Given the description of an element on the screen output the (x, y) to click on. 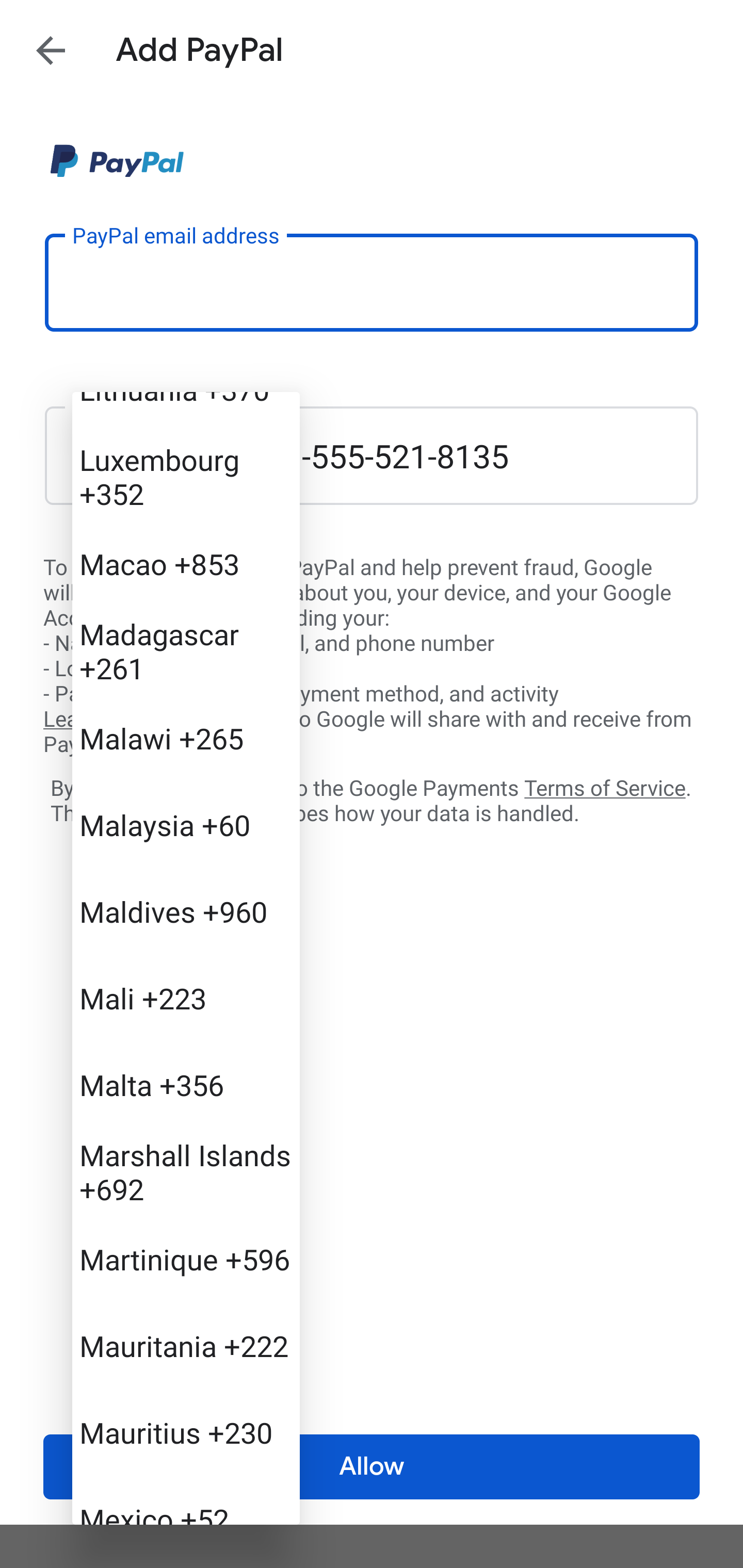
Luxembourg +352 (185, 476)
Macao +853 (185, 563)
Madagascar +261 (185, 650)
Malawi +265 (185, 737)
Malaysia +60 (185, 824)
Maldives +960 (185, 911)
Mali +223 (185, 997)
Malta +356 (185, 1084)
Marshall Islands +692 (185, 1171)
Martinique +596 (185, 1259)
Mauritania +222 (185, 1346)
Mauritius +230 (185, 1432)
